Given the description of an element on the screen output the (x, y) to click on. 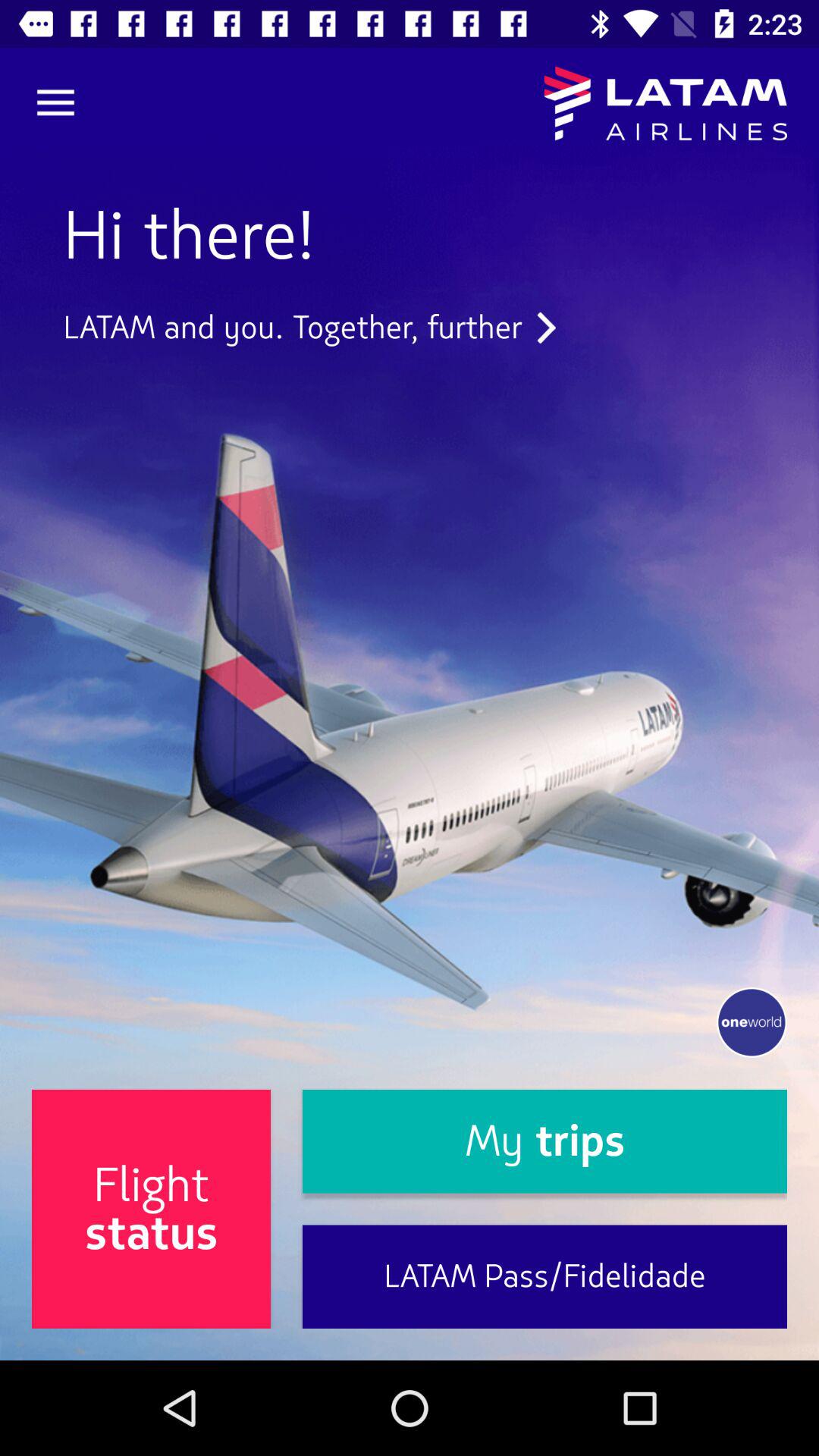
open icon next to the flight
status (544, 1141)
